Given the description of an element on the screen output the (x, y) to click on. 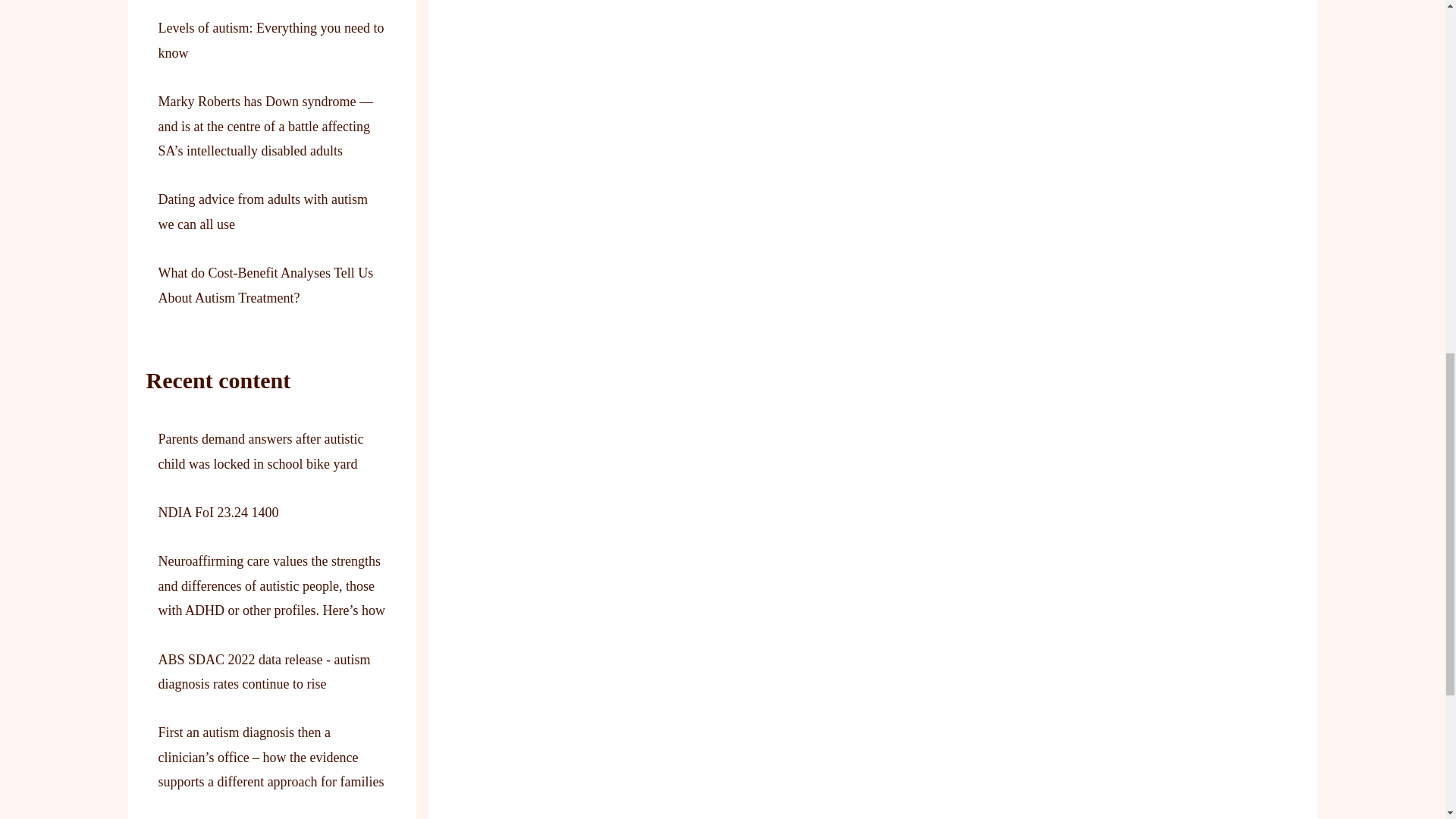
Levels of autism: Everything you need to know (270, 39)
